Given the description of an element on the screen output the (x, y) to click on. 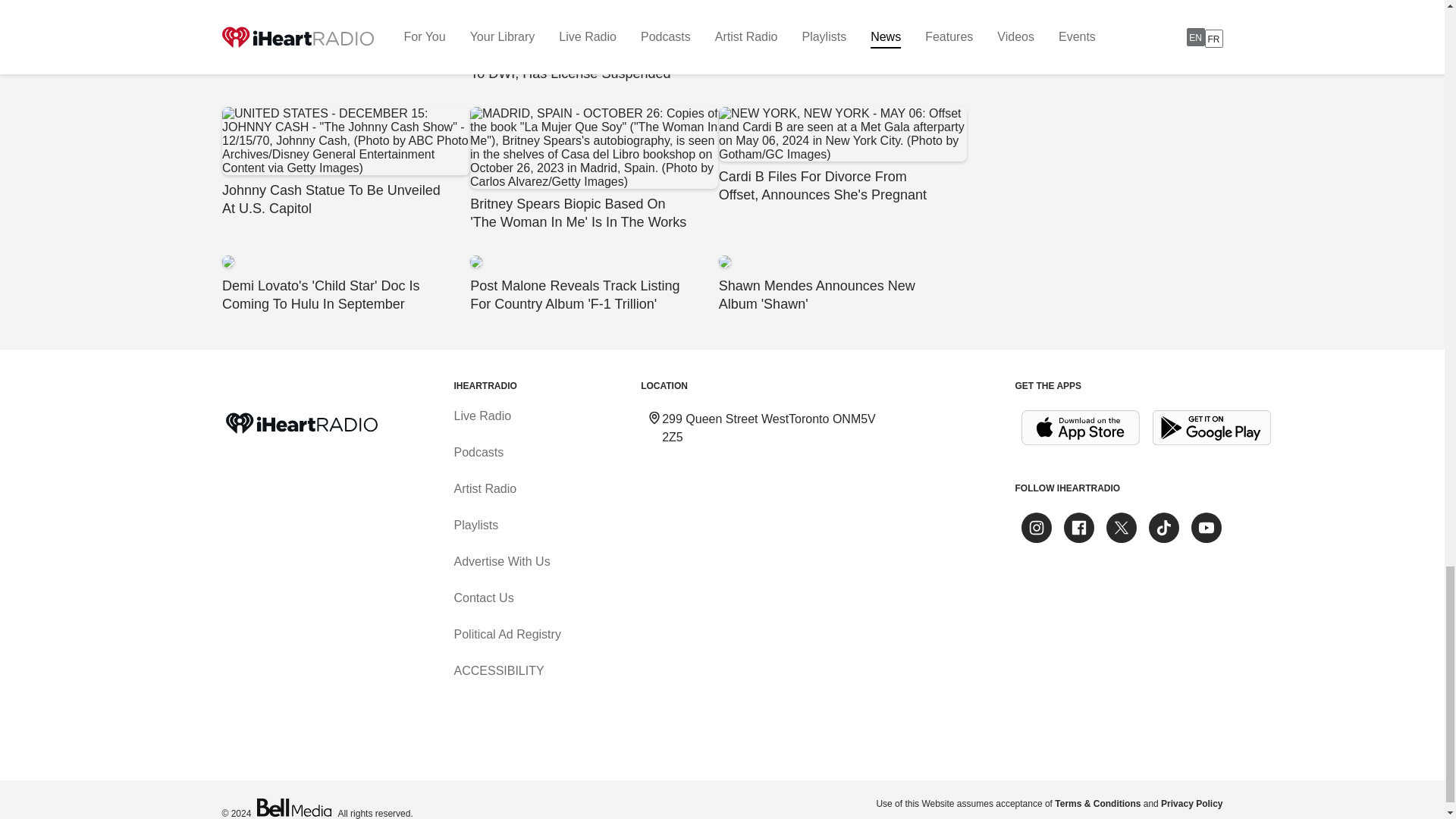
Artist Radio (484, 488)
Johnny Cash Statue To Be Unveiled At U.S. Capitol (344, 162)
Shawn Mendes Announces New Album 'Shawn' (841, 283)
Playlists (474, 524)
Download on the App Store (1080, 427)
